Given the description of an element on the screen output the (x, y) to click on. 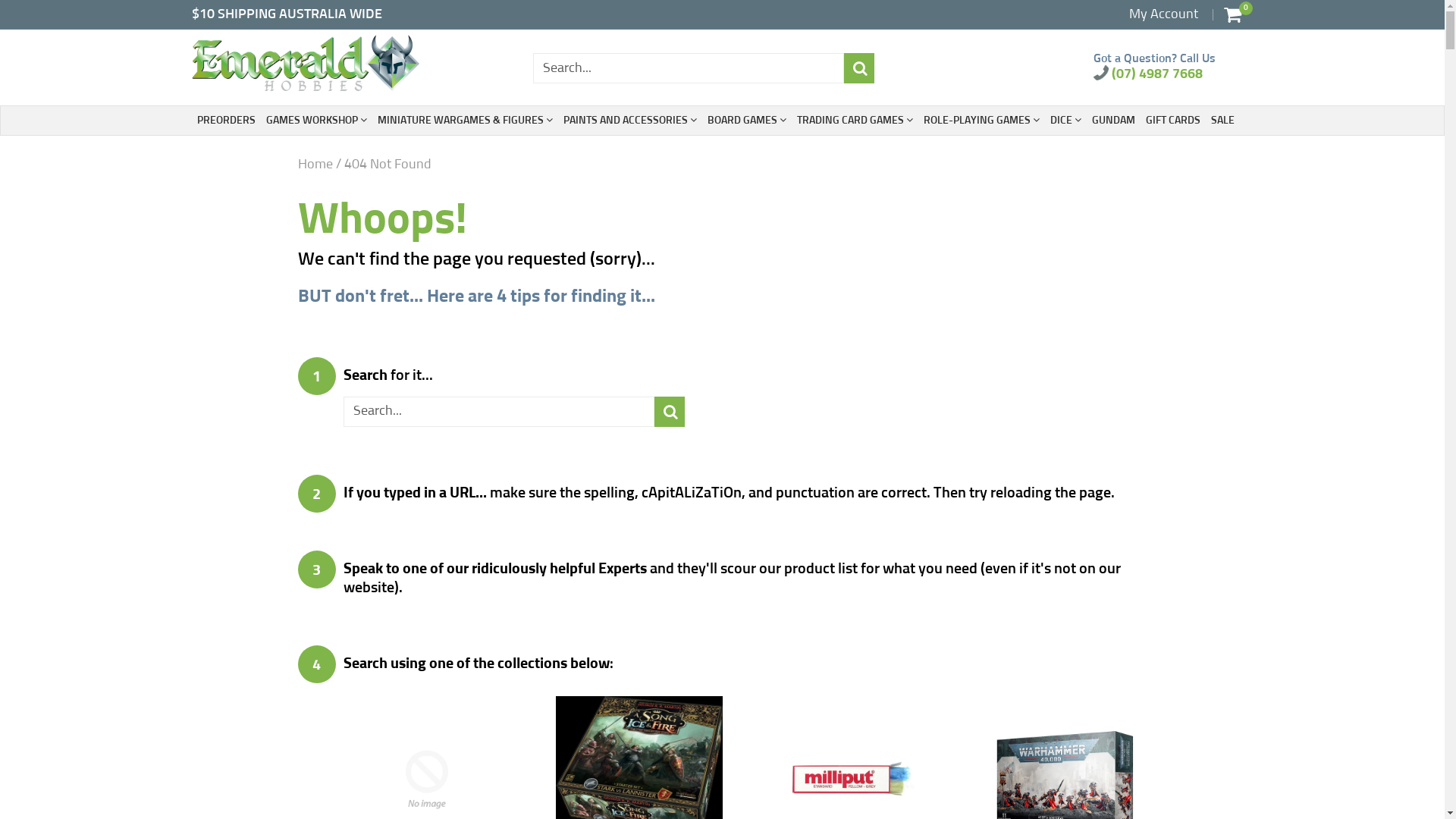
SALE Element type: text (1221, 120)
DICE Element type: text (1064, 120)
TRADING CARD GAMES Element type: text (854, 120)
BOARD GAMES Element type: text (745, 120)
PREORDERS Element type: text (226, 120)
PAINTS AND ACCESSORIES Element type: text (629, 120)
$10 SHIPPING AUSTRALIA WIDE Element type: text (286, 14)
GUNDAM Element type: text (1113, 120)
MINIATURE WARGAMES & FIGURES Element type: text (464, 120)
(07) 4987 7668 Element type: text (1147, 74)
GIFT CARDS Element type: text (1172, 120)
GAMES WORKSHOP Element type: text (315, 120)
Home Element type: text (314, 164)
0 Element type: text (1232, 14)
My Account Element type: text (1163, 14)
ROLE-PLAYING GAMES Element type: text (981, 120)
